Given the description of an element on the screen output the (x, y) to click on. 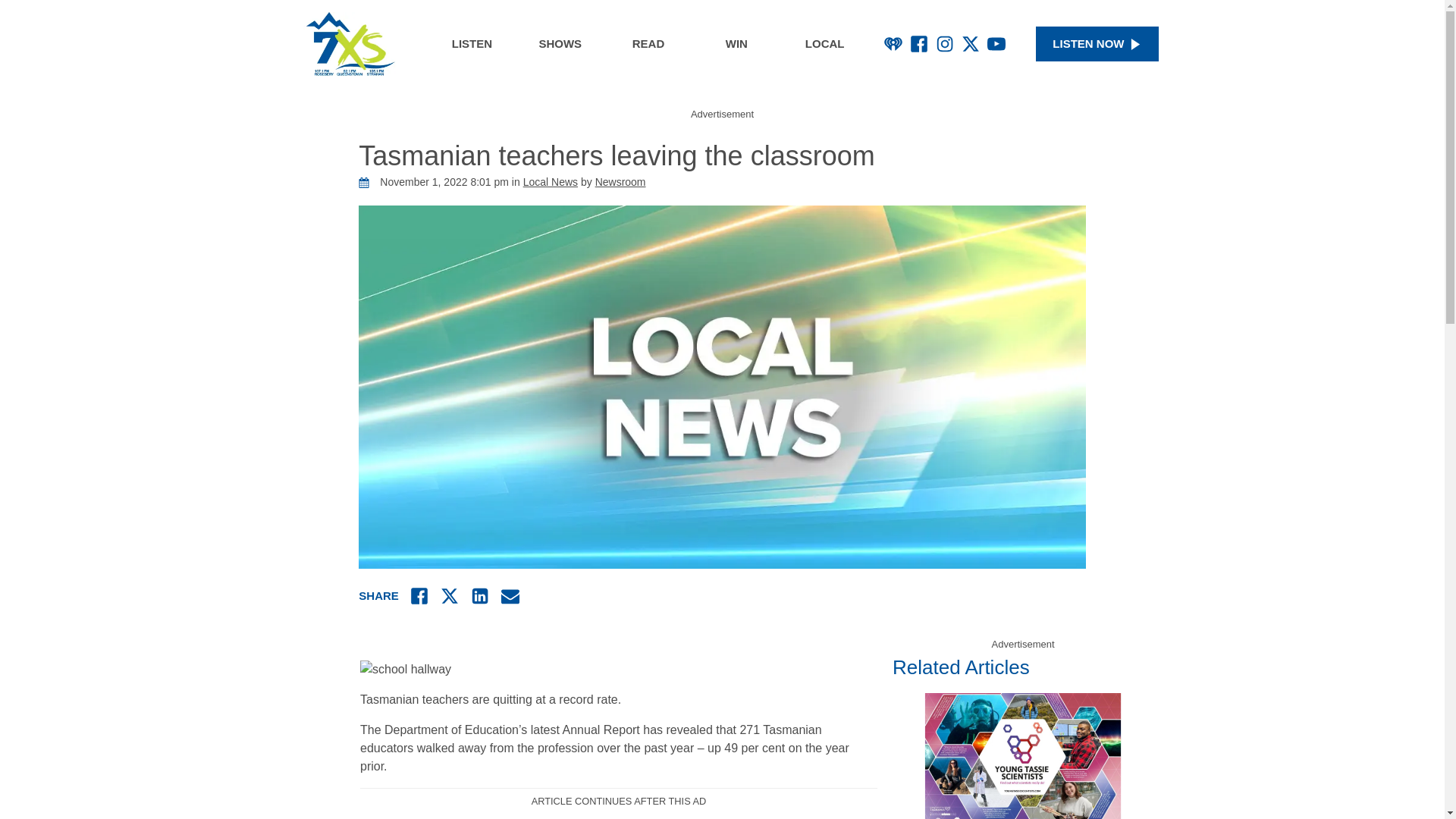
LISTEN NOW (1096, 44)
READ (648, 43)
Instagram (944, 44)
SHOWS (560, 43)
WIN (736, 43)
LISTEN (471, 43)
Facebook (919, 44)
iHeart (892, 44)
YouTube (996, 44)
Posts by Newsroom (620, 182)
